Given the description of an element on the screen output the (x, y) to click on. 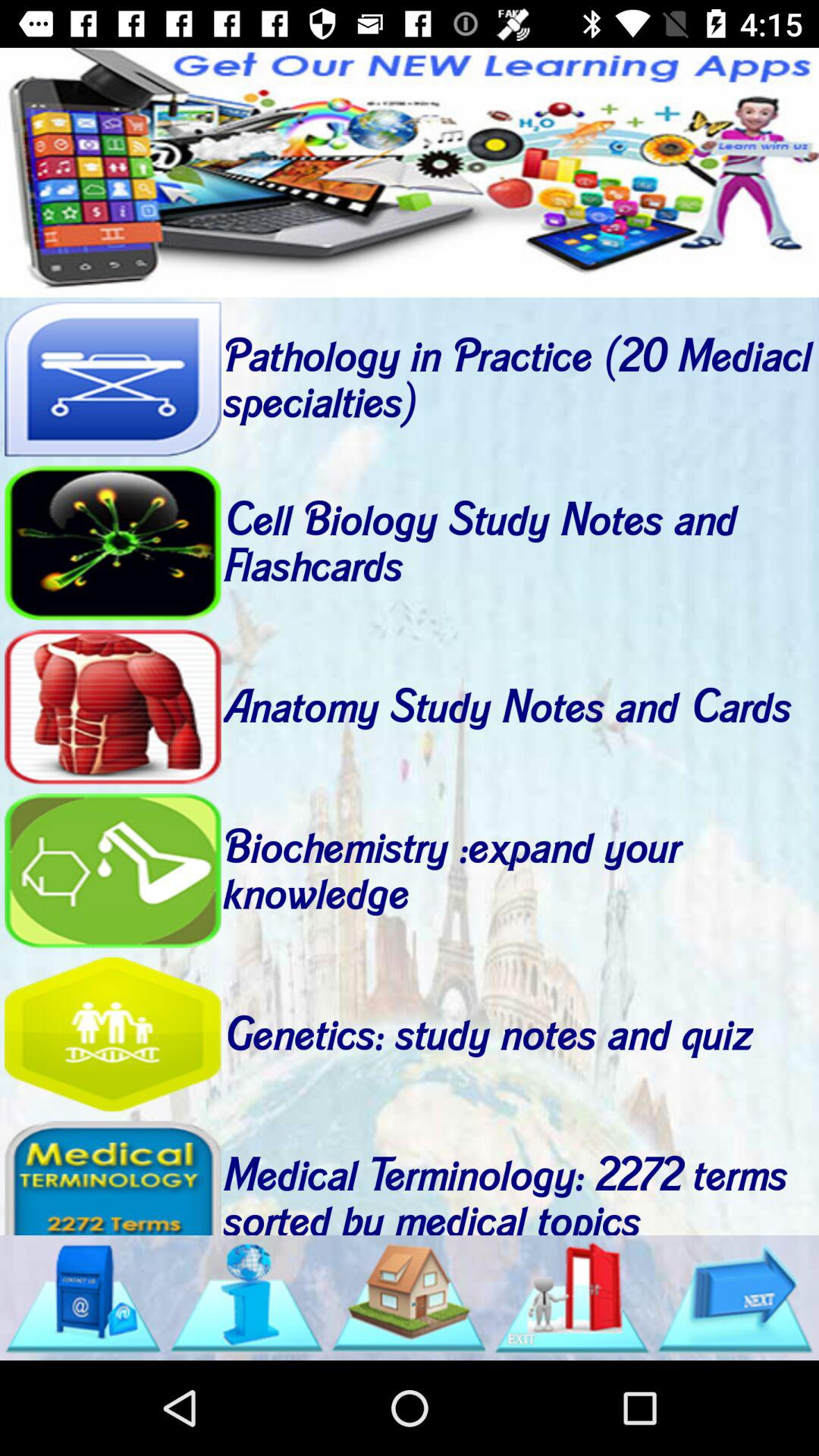
view our learning apps (409, 172)
